Given the description of an element on the screen output the (x, y) to click on. 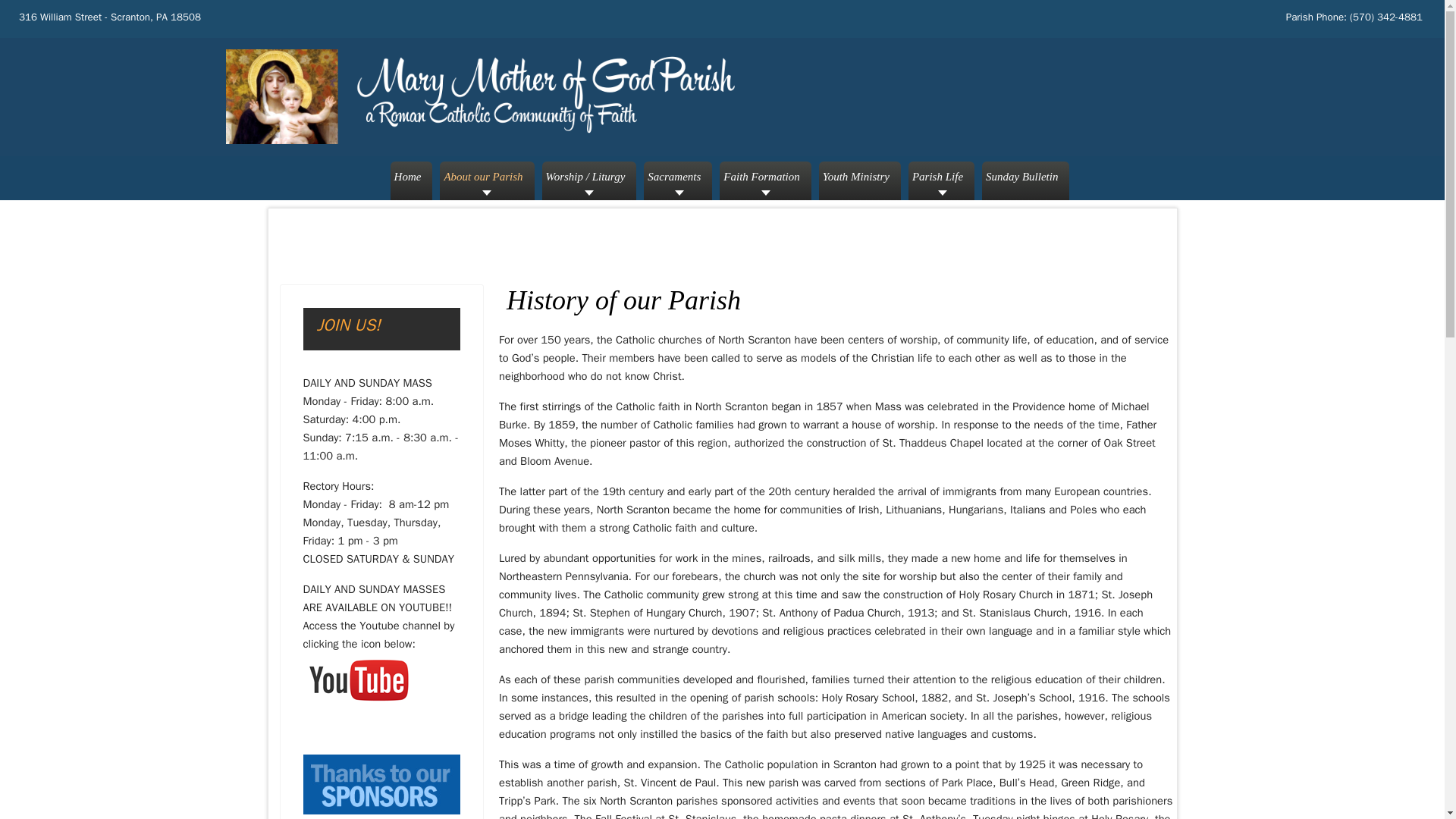
Sunday Bulletin (1024, 180)
Home (411, 180)
Youth Ministry (859, 180)
